Given the description of an element on the screen output the (x, y) to click on. 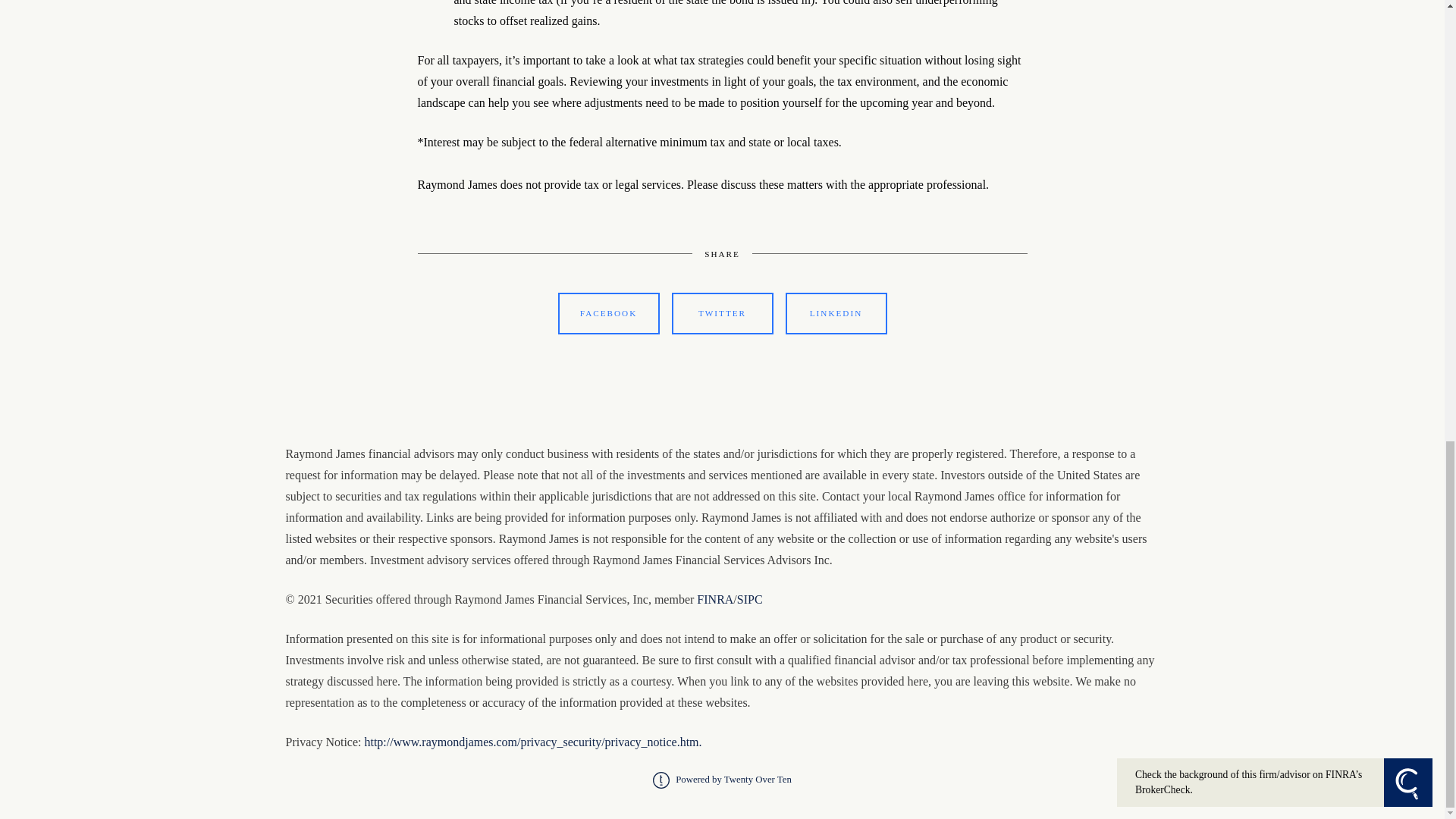
SIPC (749, 599)
FINRA (715, 599)
TWITTER (722, 313)
LINKEDIN (836, 313)
Powered by Twenty Over Ten (722, 778)
FACEBOOK (608, 313)
